Given the description of an element on the screen output the (x, y) to click on. 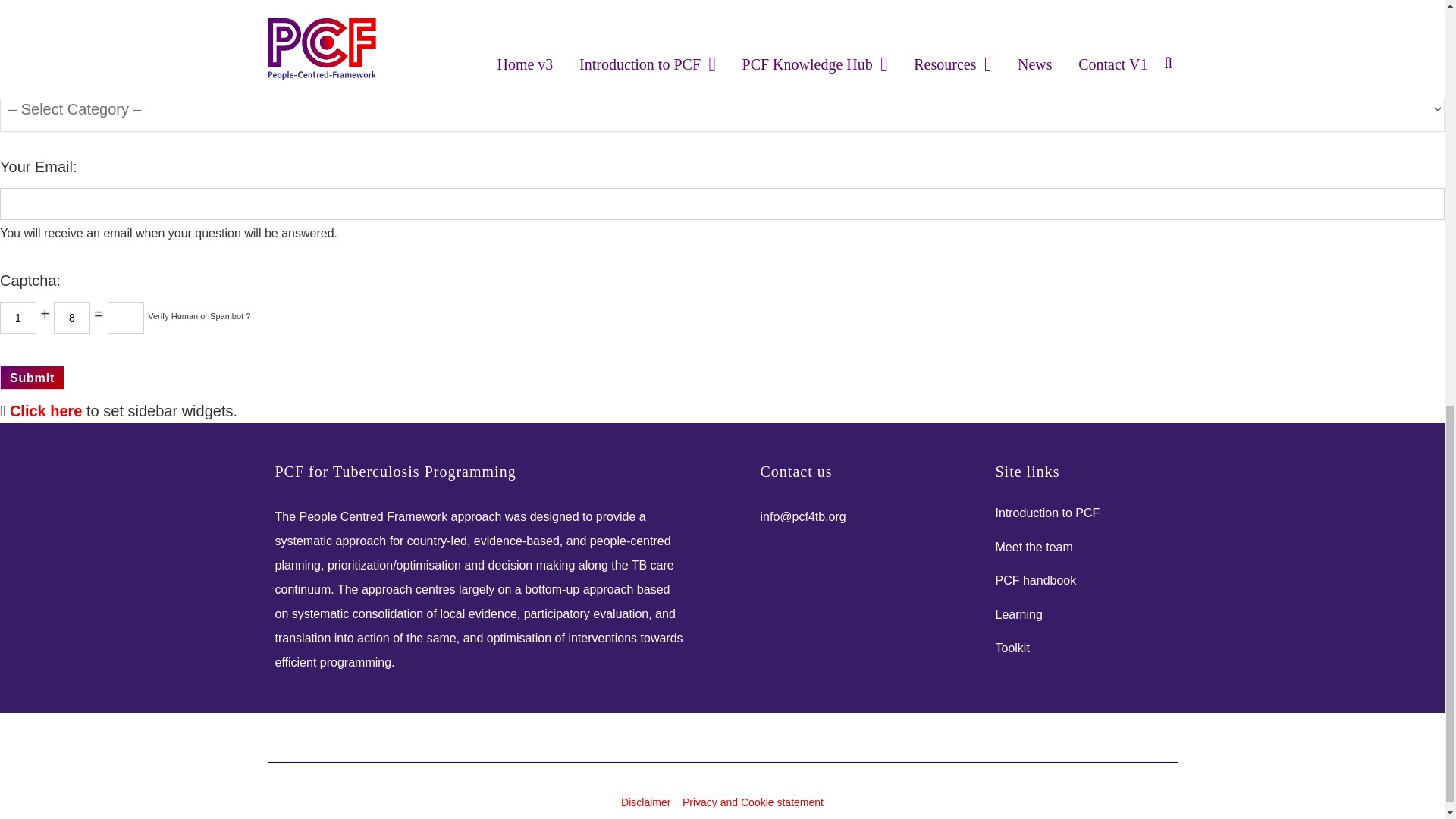
Submit (32, 377)
1 (18, 317)
8 (71, 317)
Back to top (1413, 45)
